Given the description of an element on the screen output the (x, y) to click on. 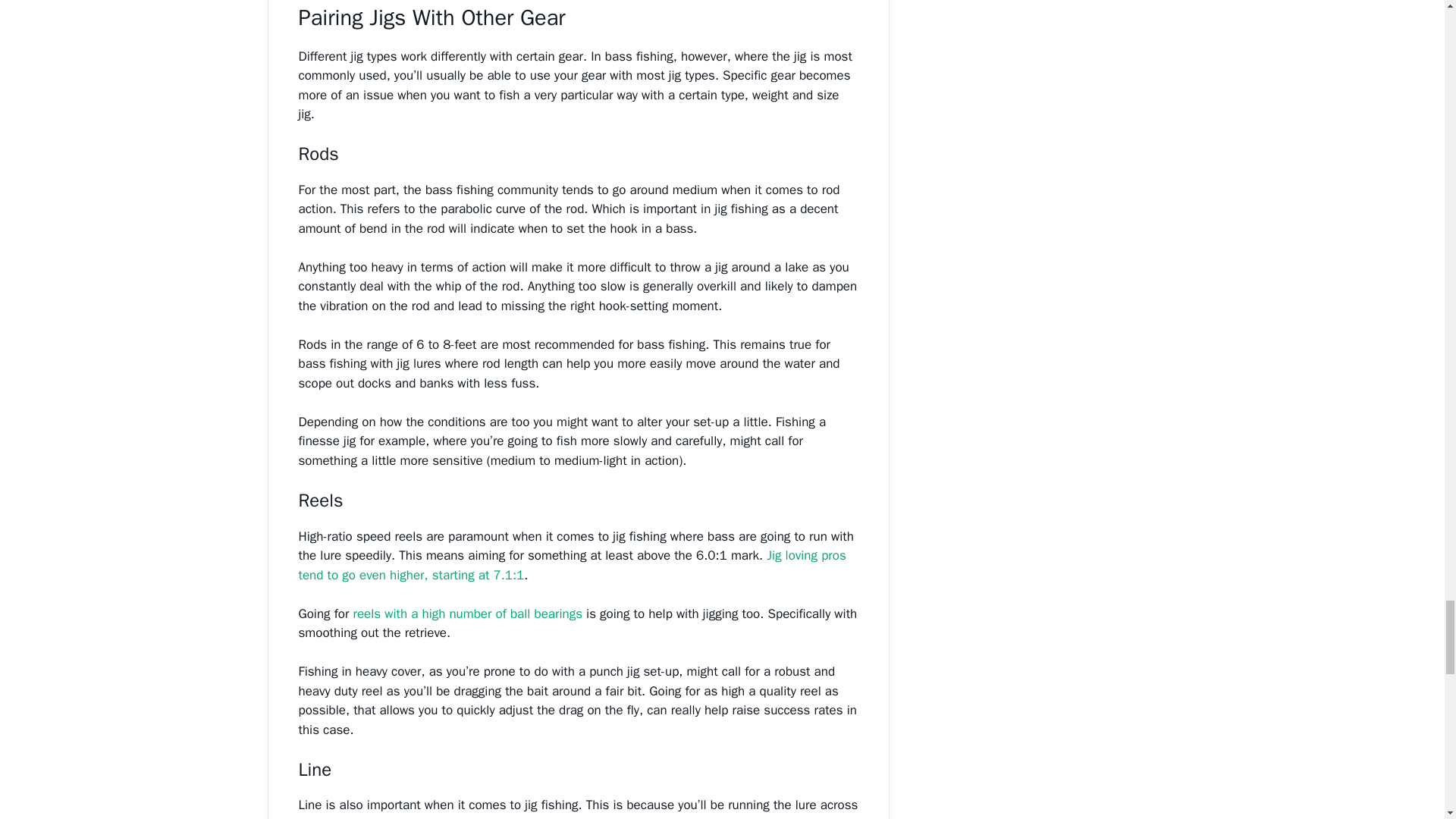
Jig loving pros tend to go even higher, starting at 7.1:1 (571, 565)
reels with a high number of ball bearings (466, 613)
